Given the description of an element on the screen output the (x, y) to click on. 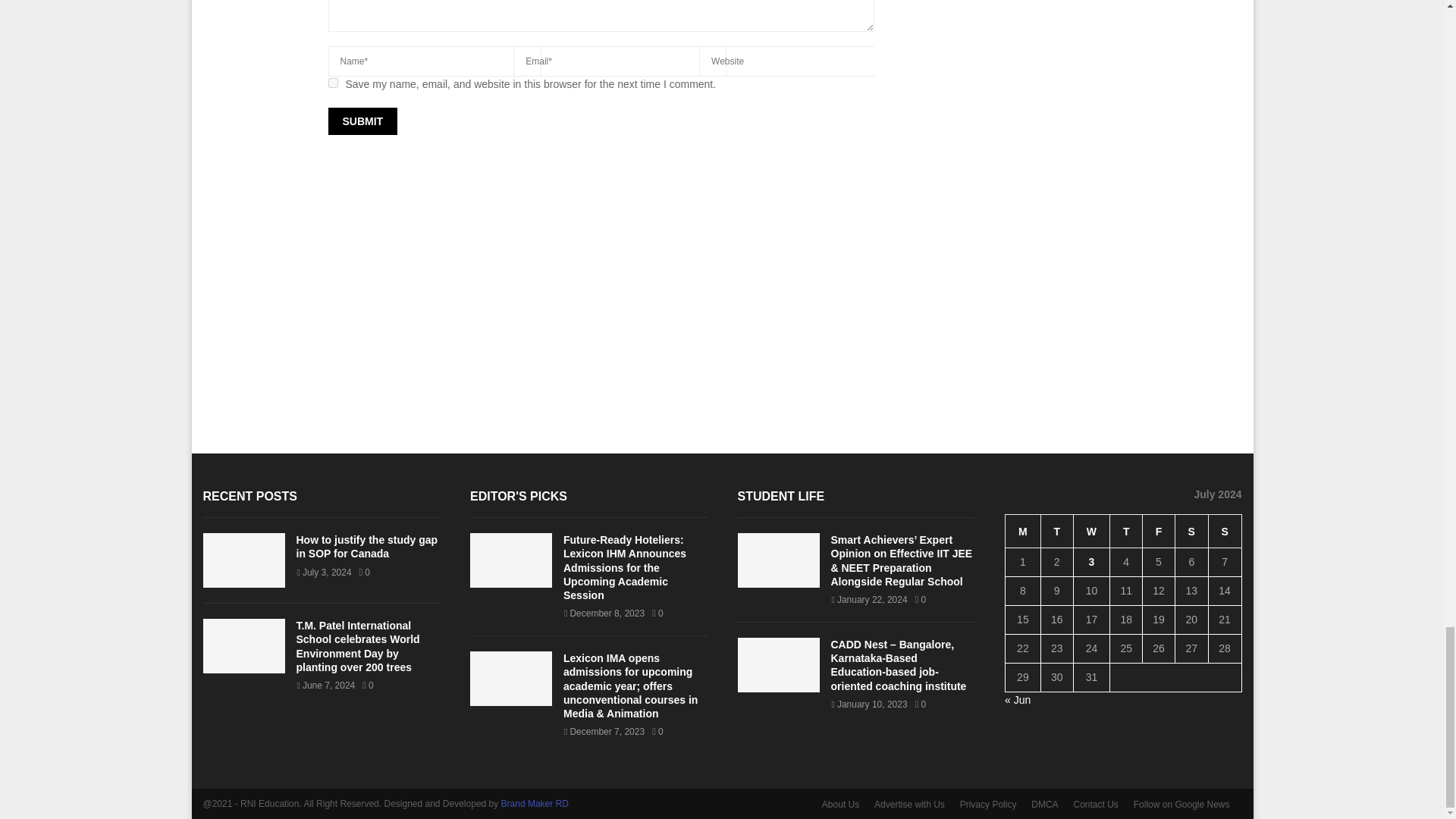
Submit (362, 121)
yes (332, 82)
